Given the description of an element on the screen output the (x, y) to click on. 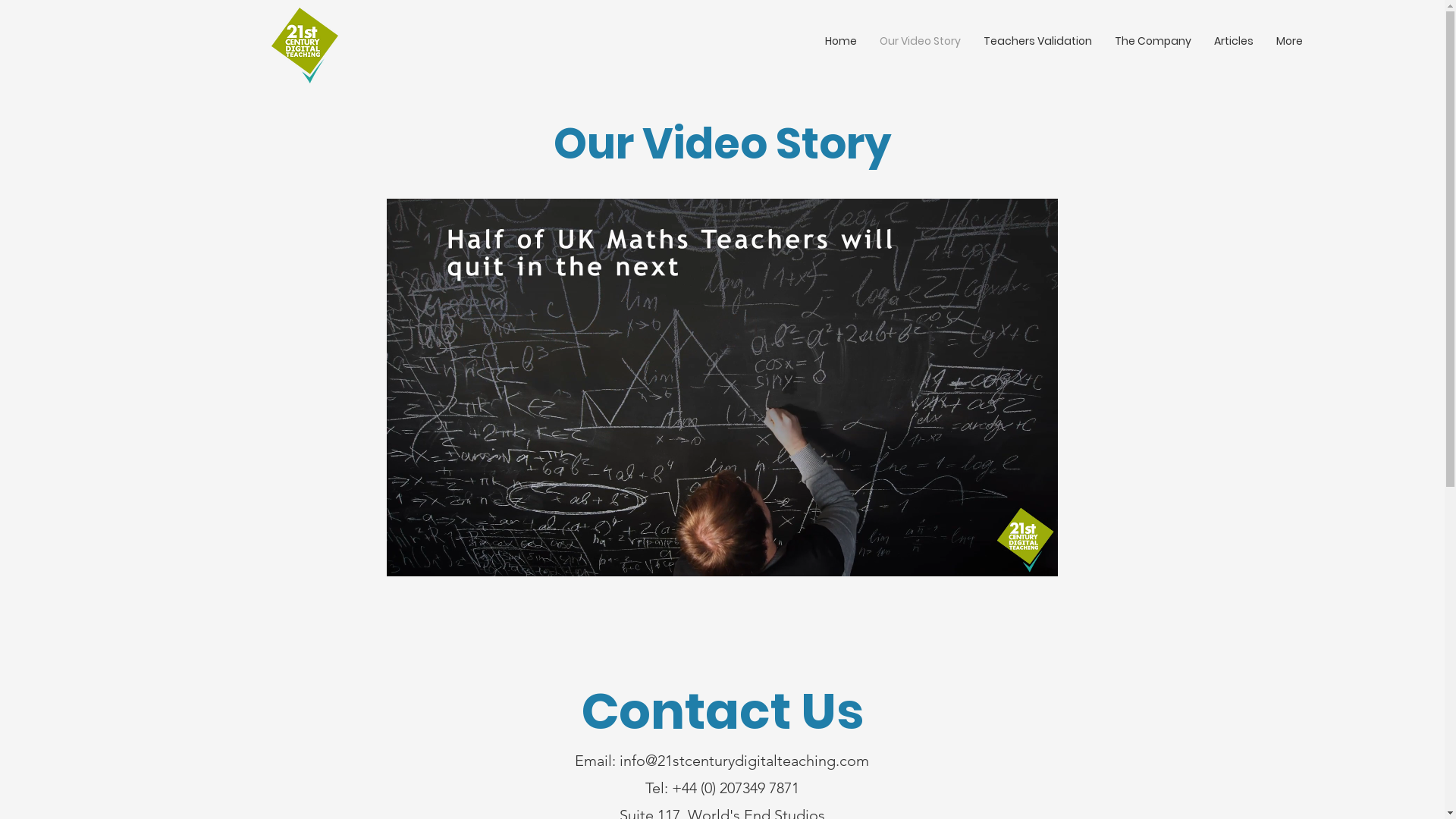
Articles Element type: text (1233, 40)
Teachers Validation Element type: text (1037, 40)
Home Element type: text (840, 40)
The Company Element type: text (1152, 40)
info@21stcenturydigitalteaching.com Element type: text (744, 760)
Our Video Story Element type: text (920, 40)
